Given the description of an element on the screen output the (x, y) to click on. 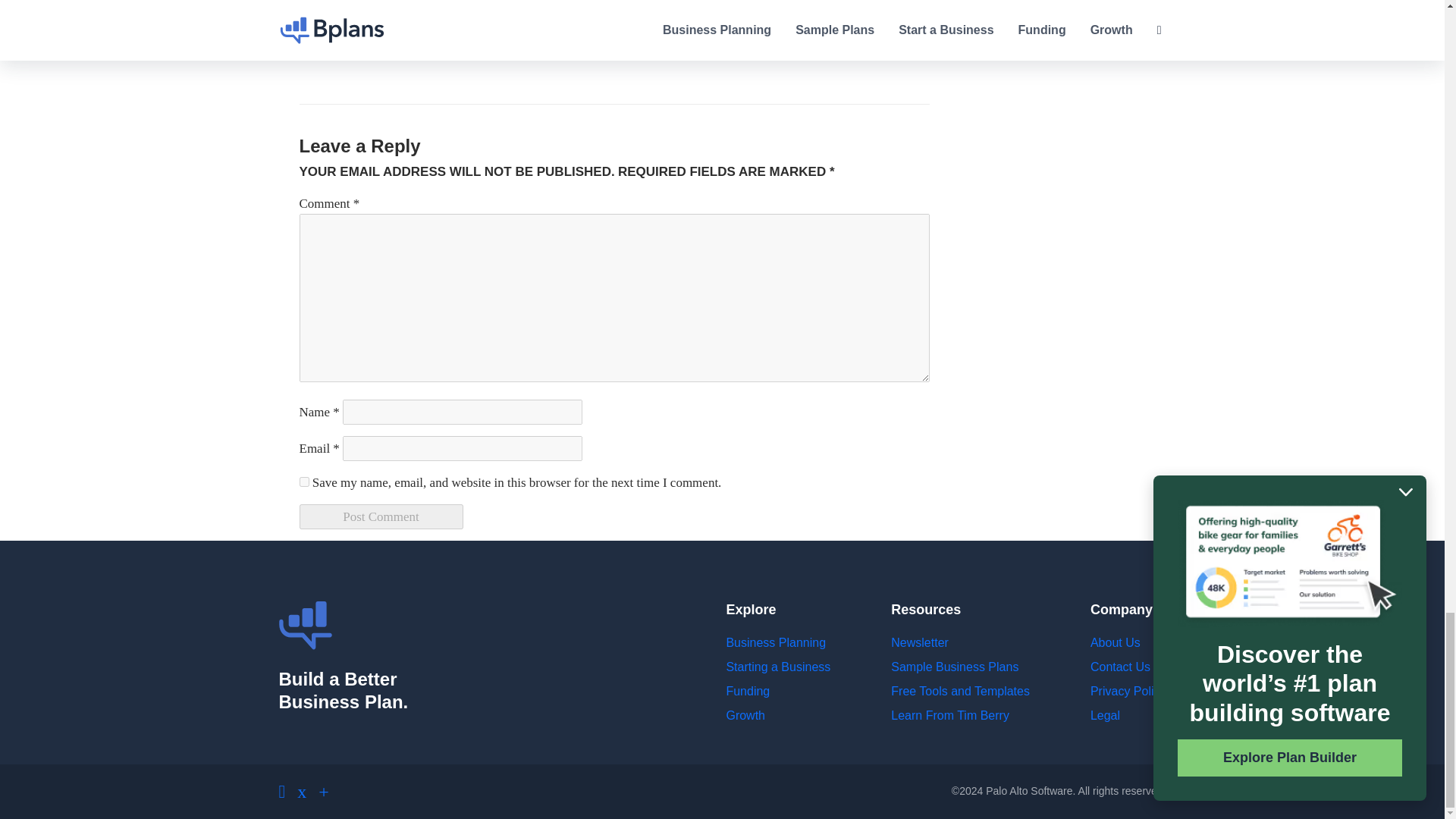
Post Comment (380, 516)
Bplans Logo (305, 625)
yes (303, 481)
